Given the description of an element on the screen output the (x, y) to click on. 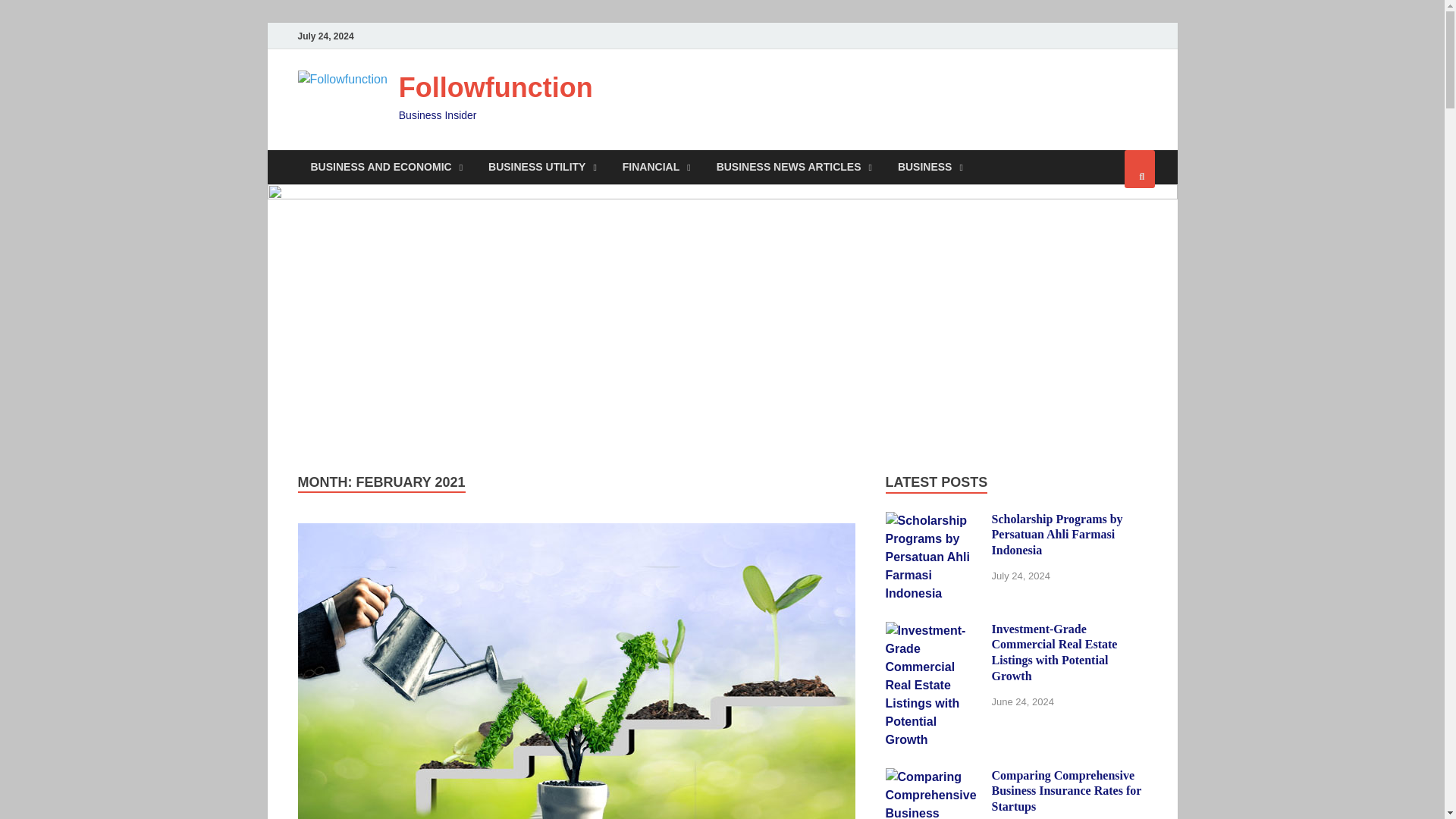
Followfunction (495, 87)
FINANCIAL (656, 166)
BUSINESS AND ECONOMIC (386, 166)
BUSINESS UTILITY (543, 166)
BUSINESS NEWS ARTICLES (794, 166)
Scholarship Programs by Persatuan Ahli Farmasi Indonesia (932, 520)
BUSINESS (930, 166)
